Given the description of an element on the screen output the (x, y) to click on. 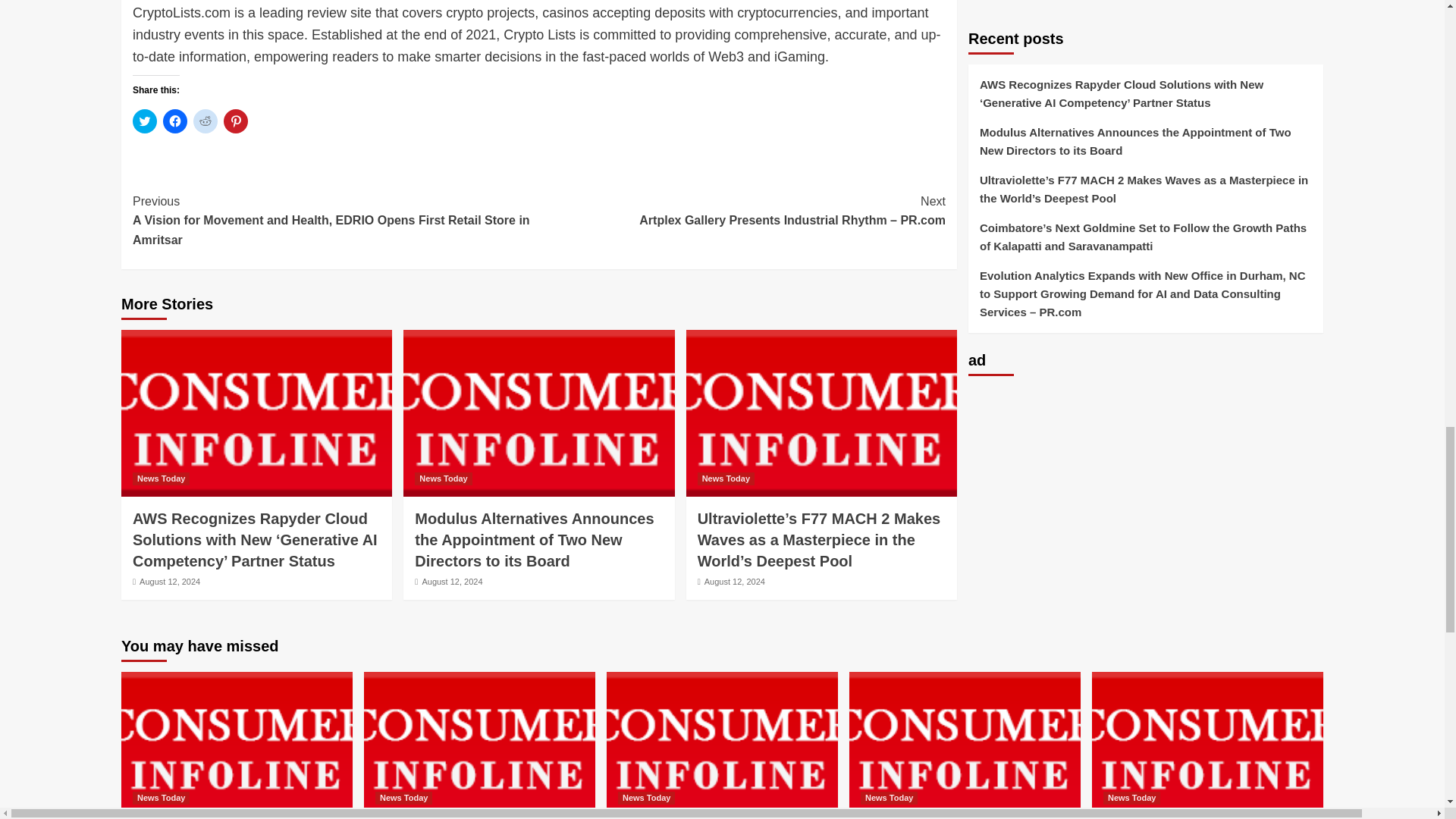
Click to share on Reddit (204, 120)
August 12, 2024 (169, 580)
News Today (442, 477)
News Today (160, 477)
Click to share on Pinterest (235, 120)
Click to share on Twitter (144, 120)
Click to share on Facebook (175, 120)
